Given the description of an element on the screen output the (x, y) to click on. 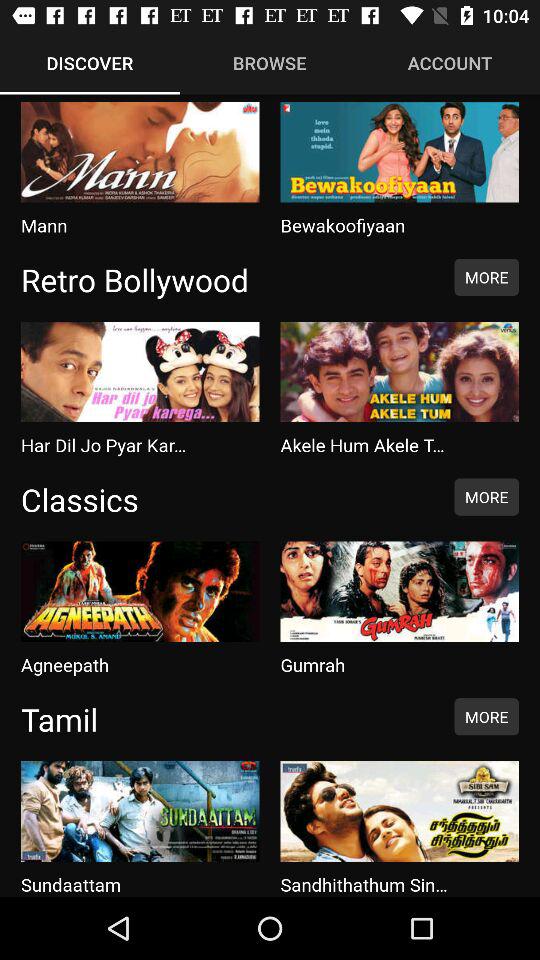
jump to the retro bollywood item (227, 279)
